Given the description of an element on the screen output the (x, y) to click on. 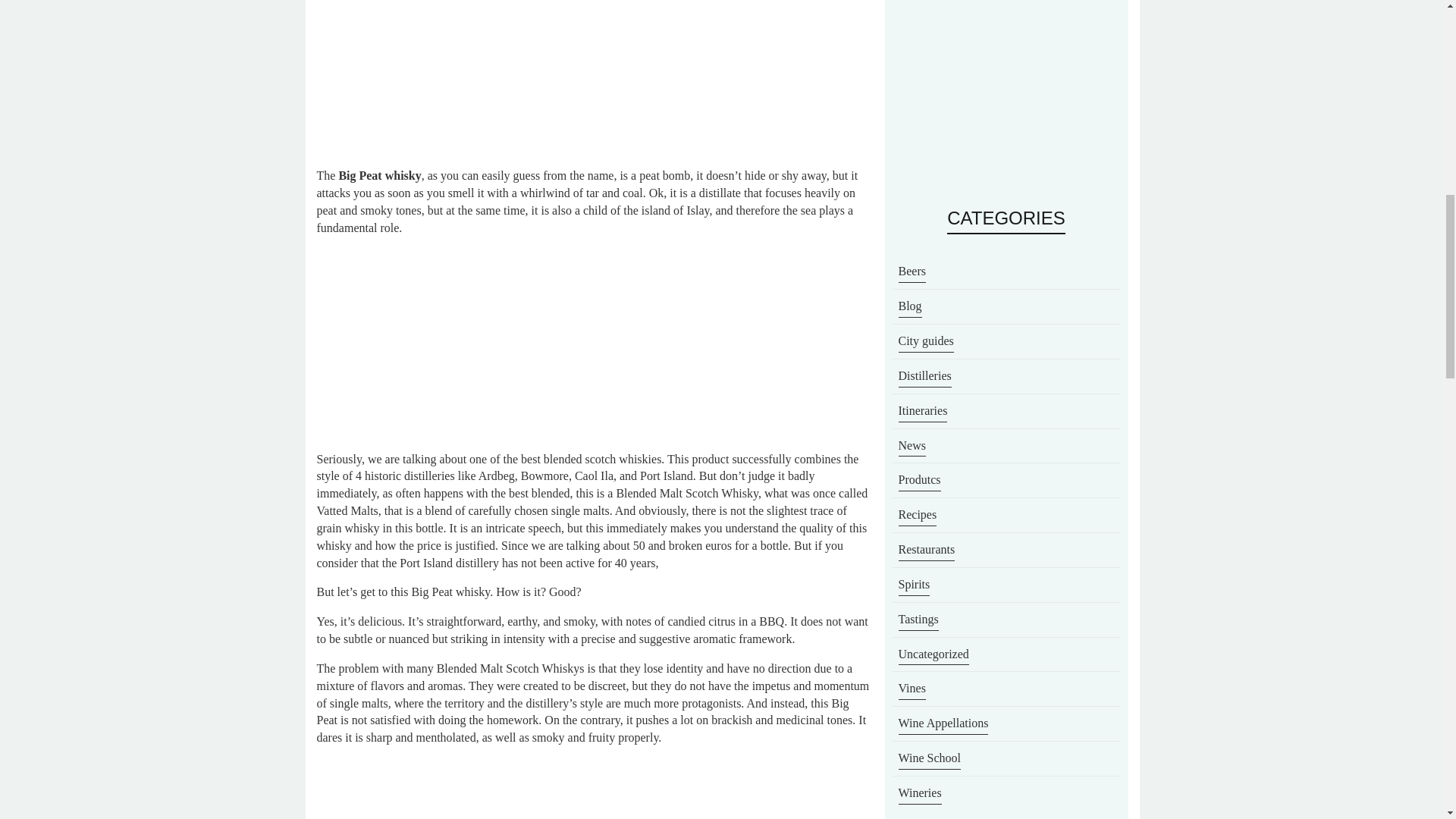
Beers (911, 272)
City guides (925, 342)
Produtcs (919, 481)
Itineraries (922, 412)
News (911, 447)
Blog (909, 307)
Distilleries (924, 377)
